Given the description of an element on the screen output the (x, y) to click on. 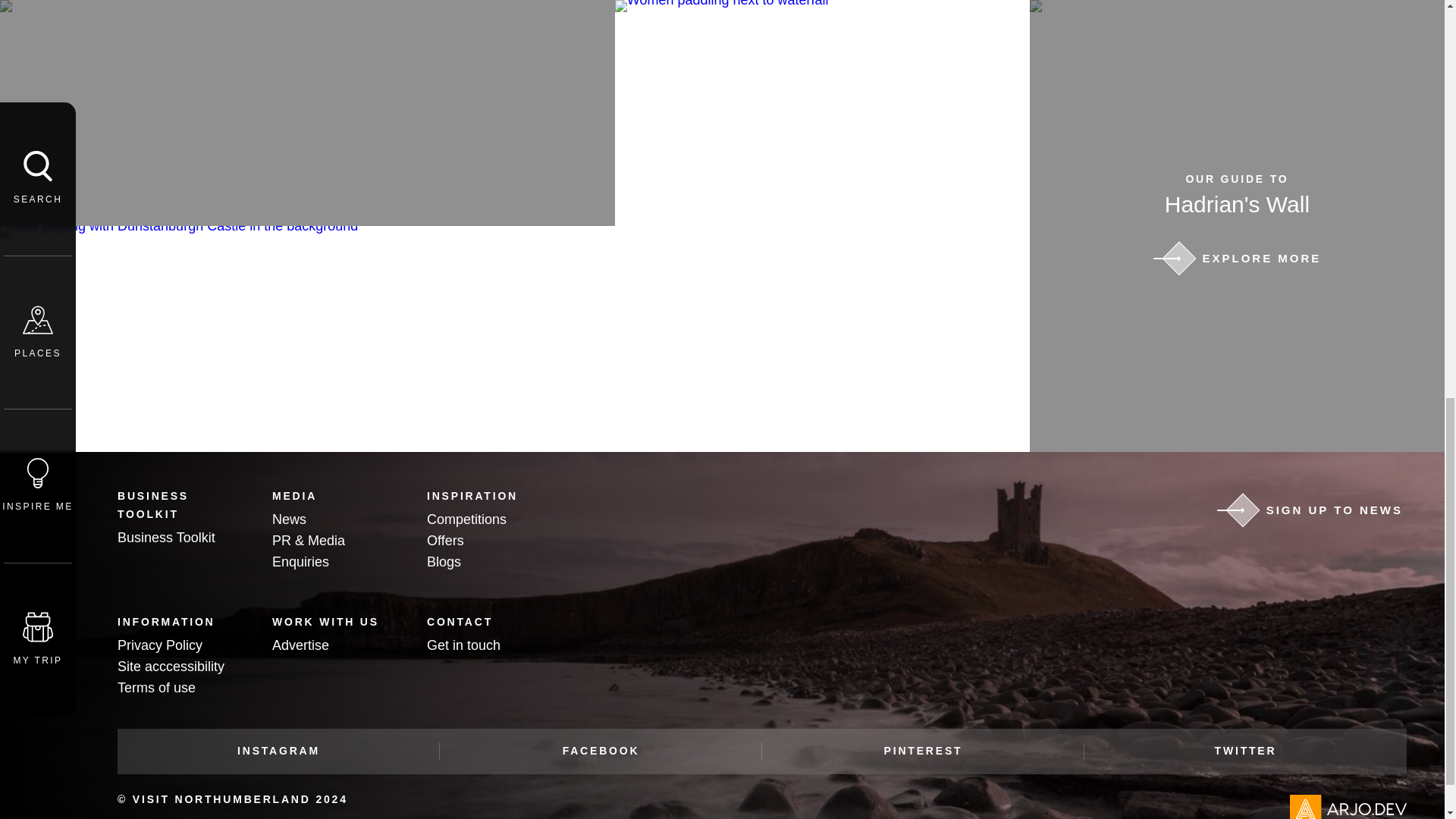
Competitions (466, 519)
Advertise (300, 645)
Business Toolkit (166, 537)
Terms of use (156, 687)
Offers (445, 540)
News (288, 519)
Get in touch (463, 645)
Blogs (443, 561)
Site acccessibility (170, 666)
Privacy Policy (159, 645)
